Given the description of an element on the screen output the (x, y) to click on. 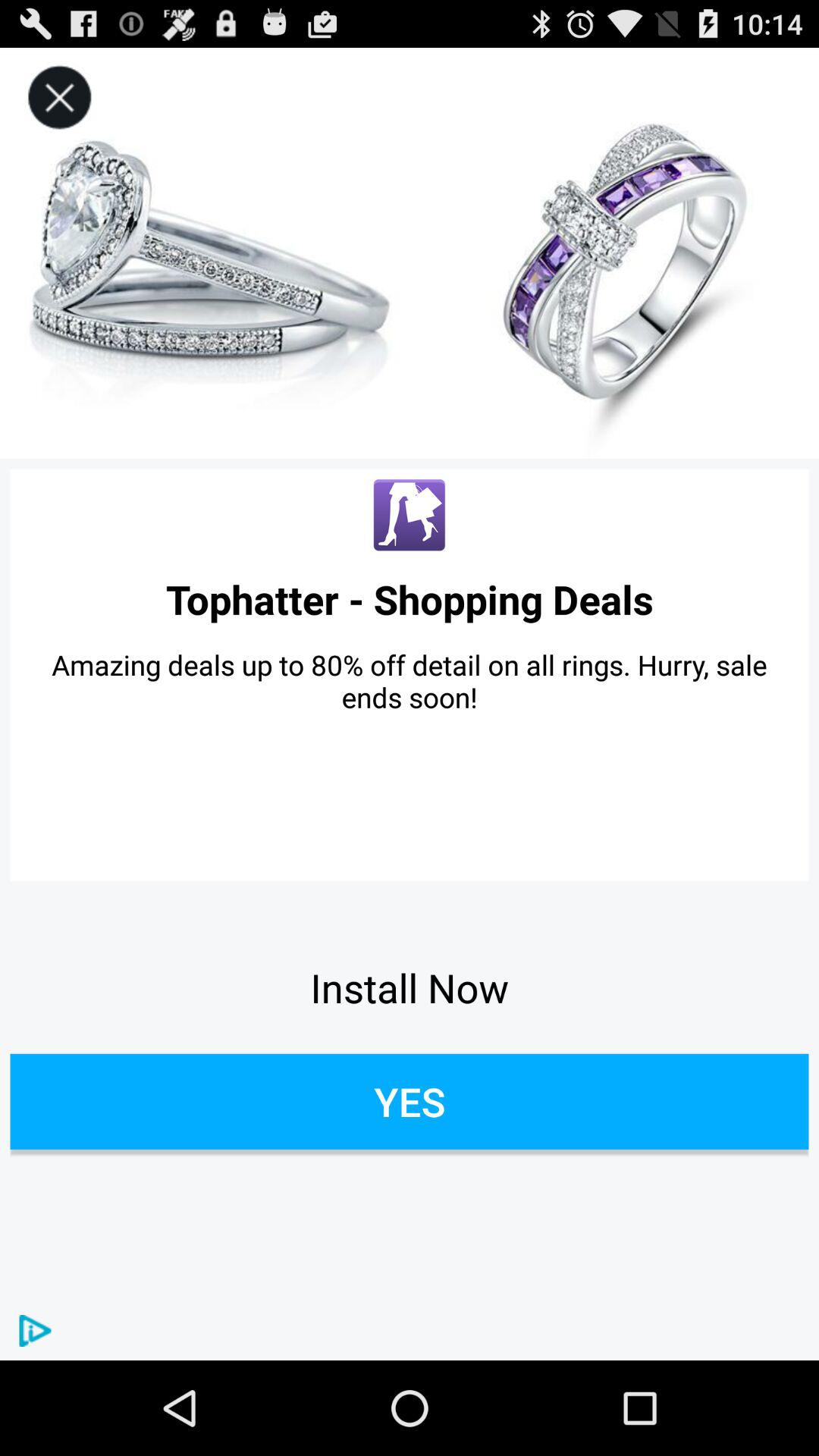
scroll until tophatter - shopping deals item (409, 598)
